Given the description of an element on the screen output the (x, y) to click on. 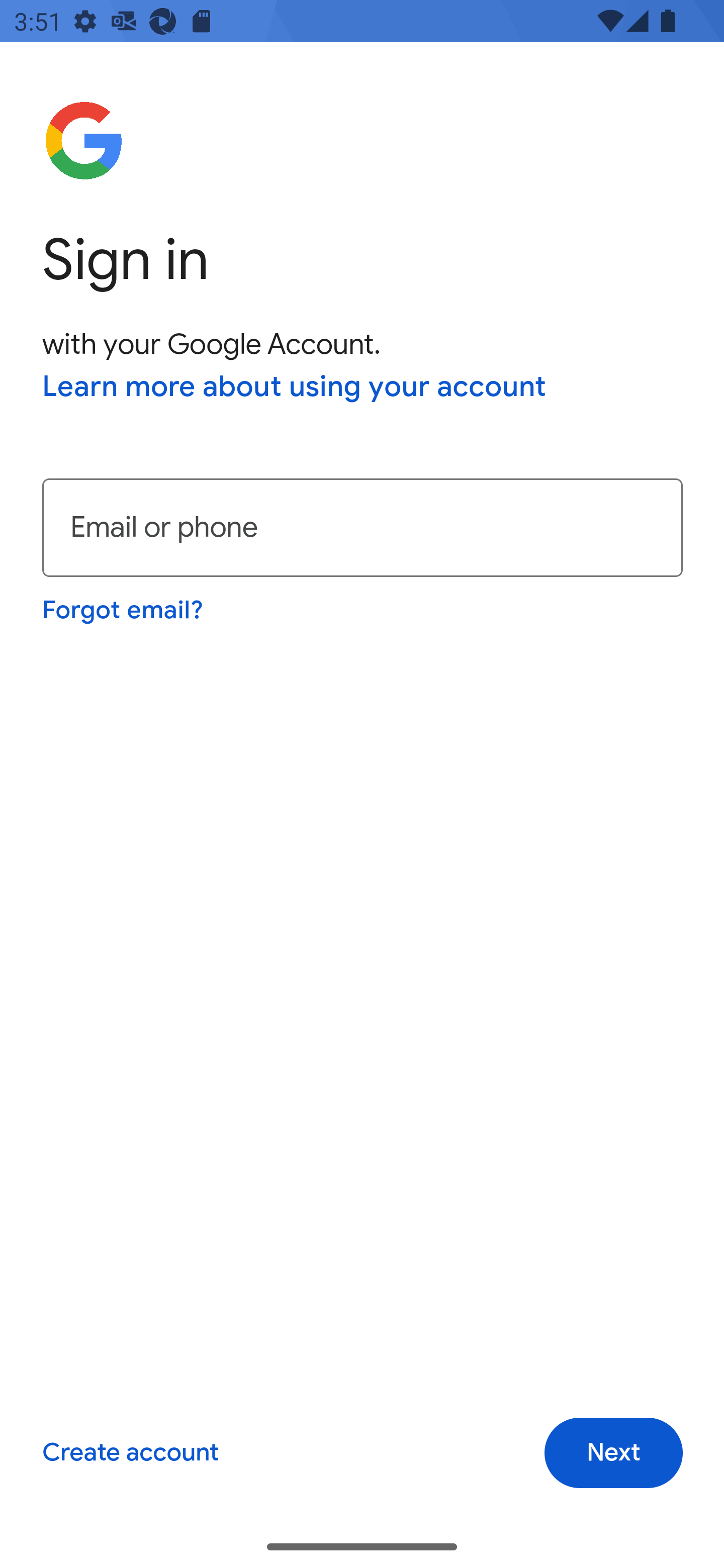
Learn more about using your account (294, 388)
Forgot email? (123, 609)
Next (613, 1453)
Create account (129, 1453)
